Given the description of an element on the screen output the (x, y) to click on. 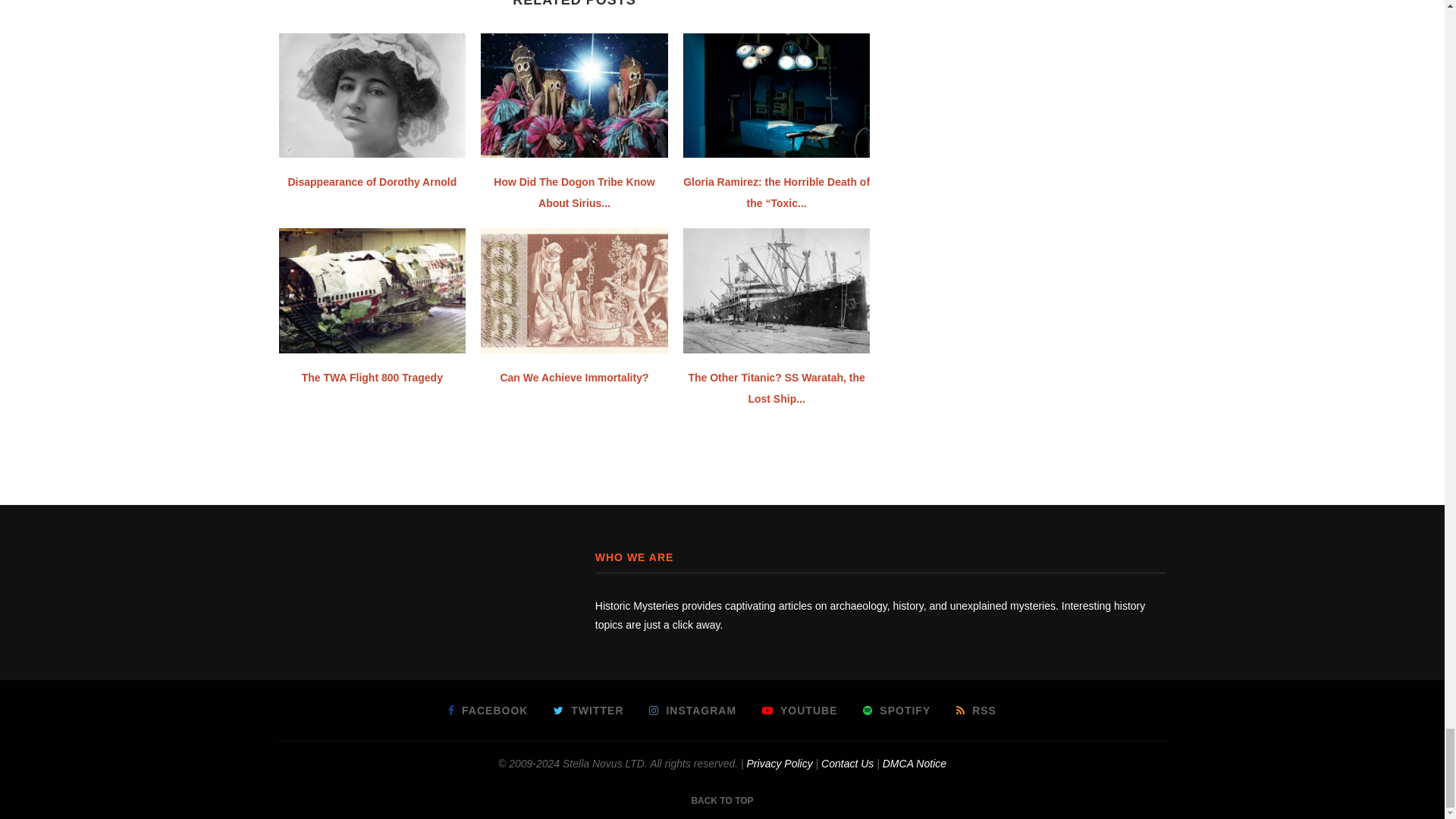
The TWA Flight 800 Tragedy (372, 290)
How Did The Dogon Tribe Know About Sirius B? (574, 95)
Disappearance of Dorothy Arnold (372, 95)
The Other Titanic? SS Waratah, the Lost Ship Of South Africa (776, 290)
Can We Achieve Immortality? (574, 290)
